Given the description of an element on the screen output the (x, y) to click on. 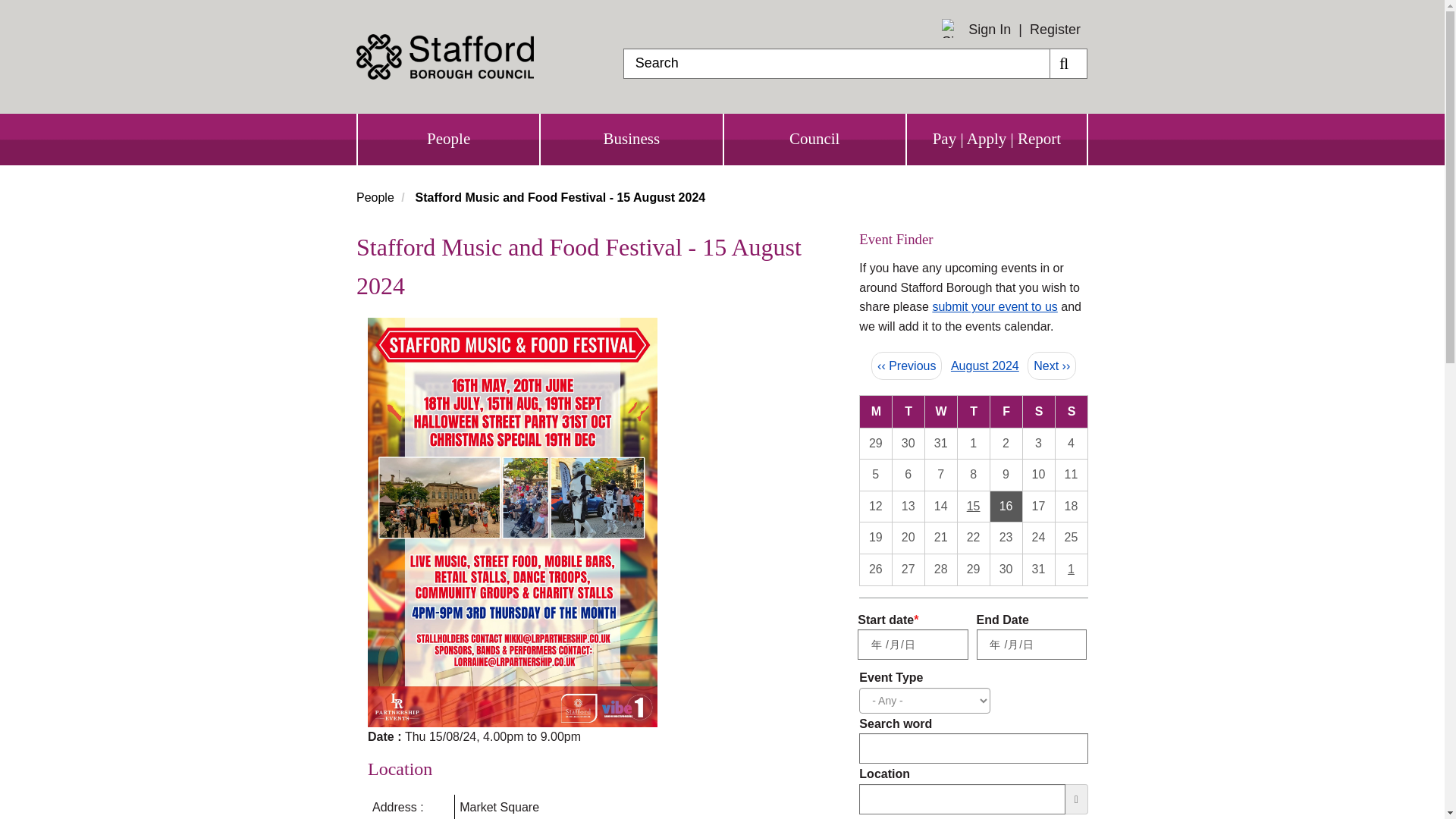
Search (1068, 63)
Go to previous page (906, 366)
submit your event to us (994, 306)
People (375, 196)
Business (631, 139)
Register (1054, 29)
Enter the terms you wish to search for. (836, 63)
Council (813, 139)
Sign In (988, 29)
August 2024 (984, 365)
